Given the description of an element on the screen output the (x, y) to click on. 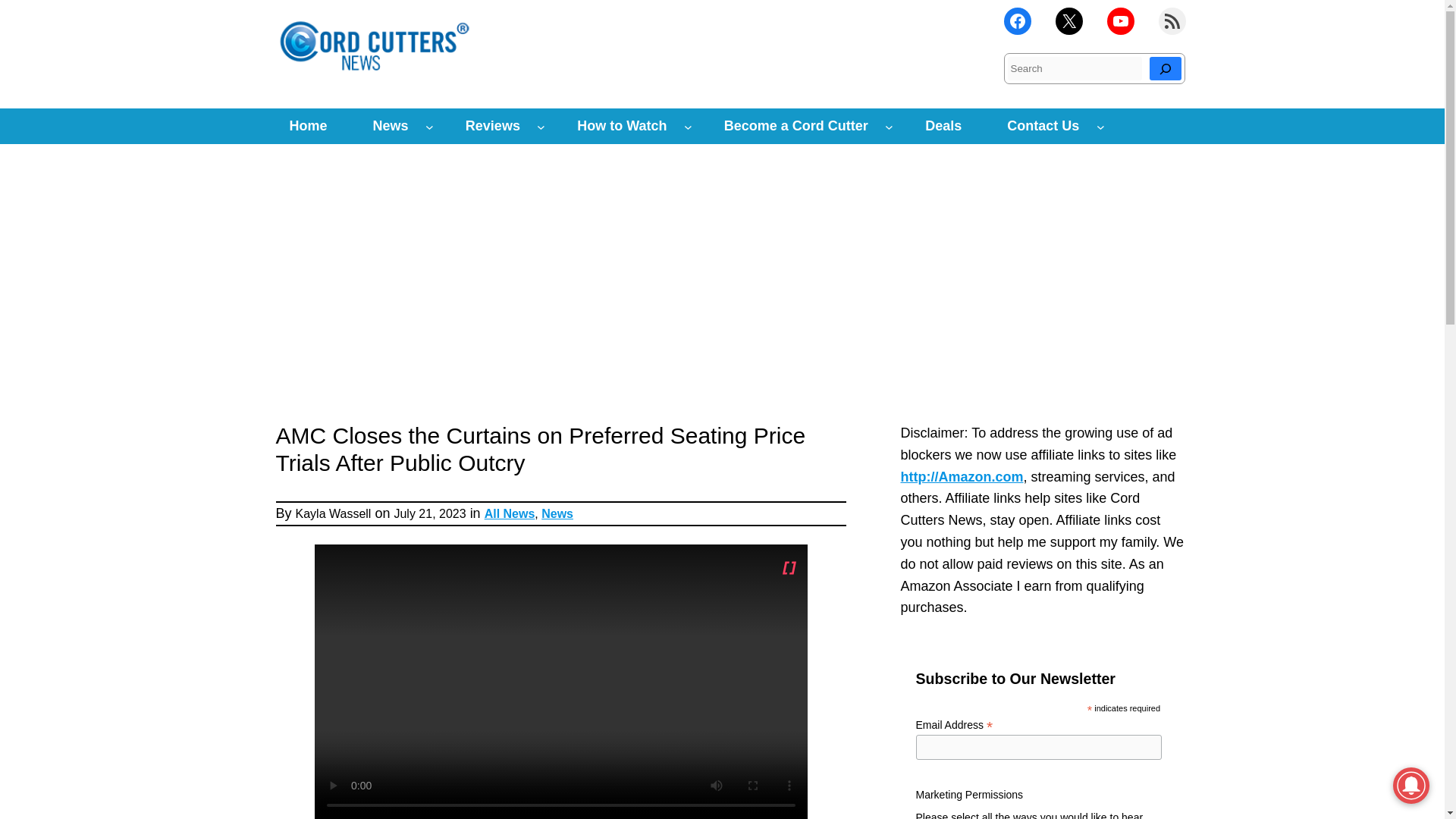
YouTube (1120, 21)
X (1069, 21)
Home (308, 126)
Facebook (1017, 21)
RSS Feed (1172, 21)
Reviews (492, 126)
News (390, 126)
